Given the description of an element on the screen output the (x, y) to click on. 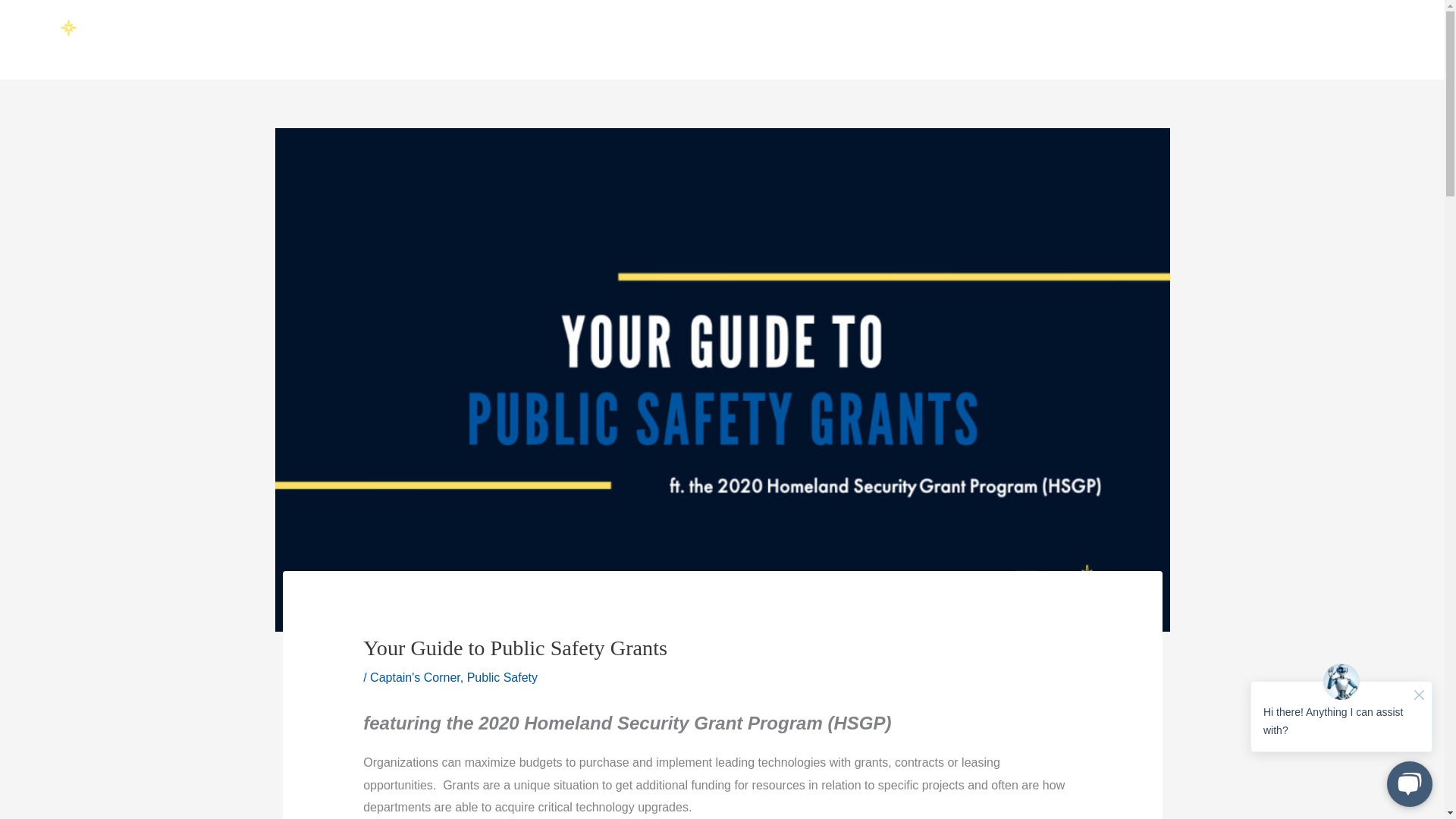
Partners (636, 43)
Solutions (557, 43)
Resources (720, 43)
Support (805, 43)
